Given the description of an element on the screen output the (x, y) to click on. 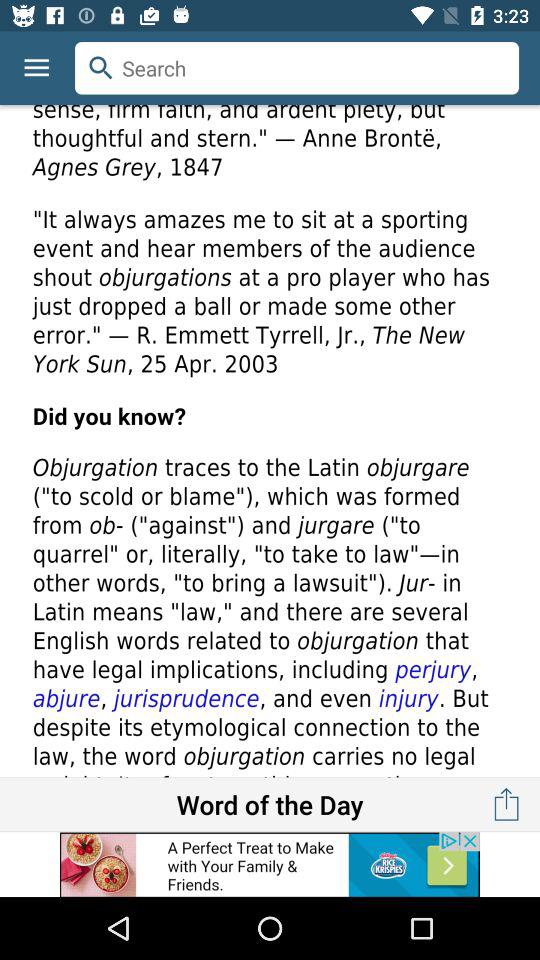
advertisement (270, 864)
